Given the description of an element on the screen output the (x, y) to click on. 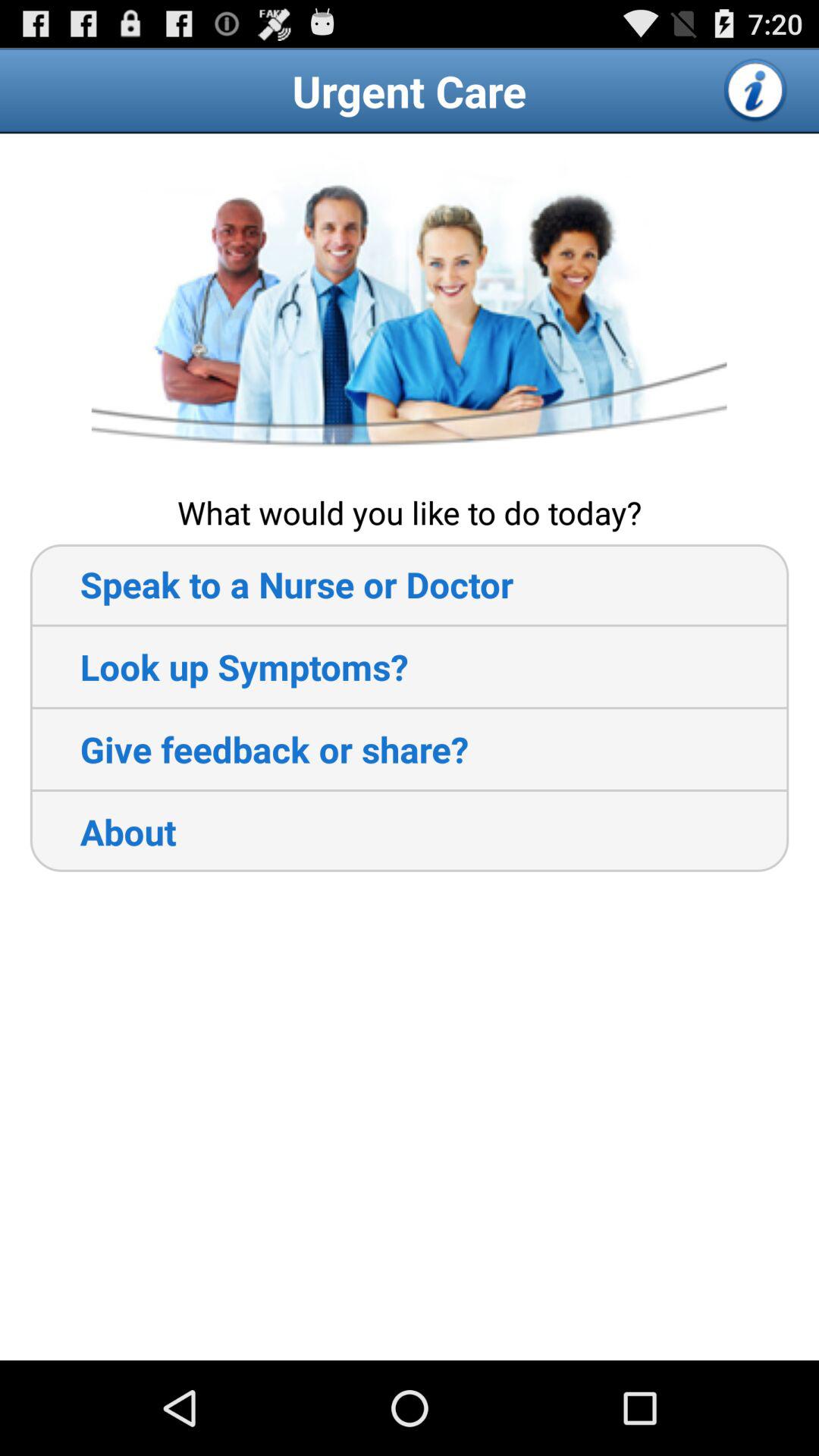
press icon above the what would you item (408, 311)
